Given the description of an element on the screen output the (x, y) to click on. 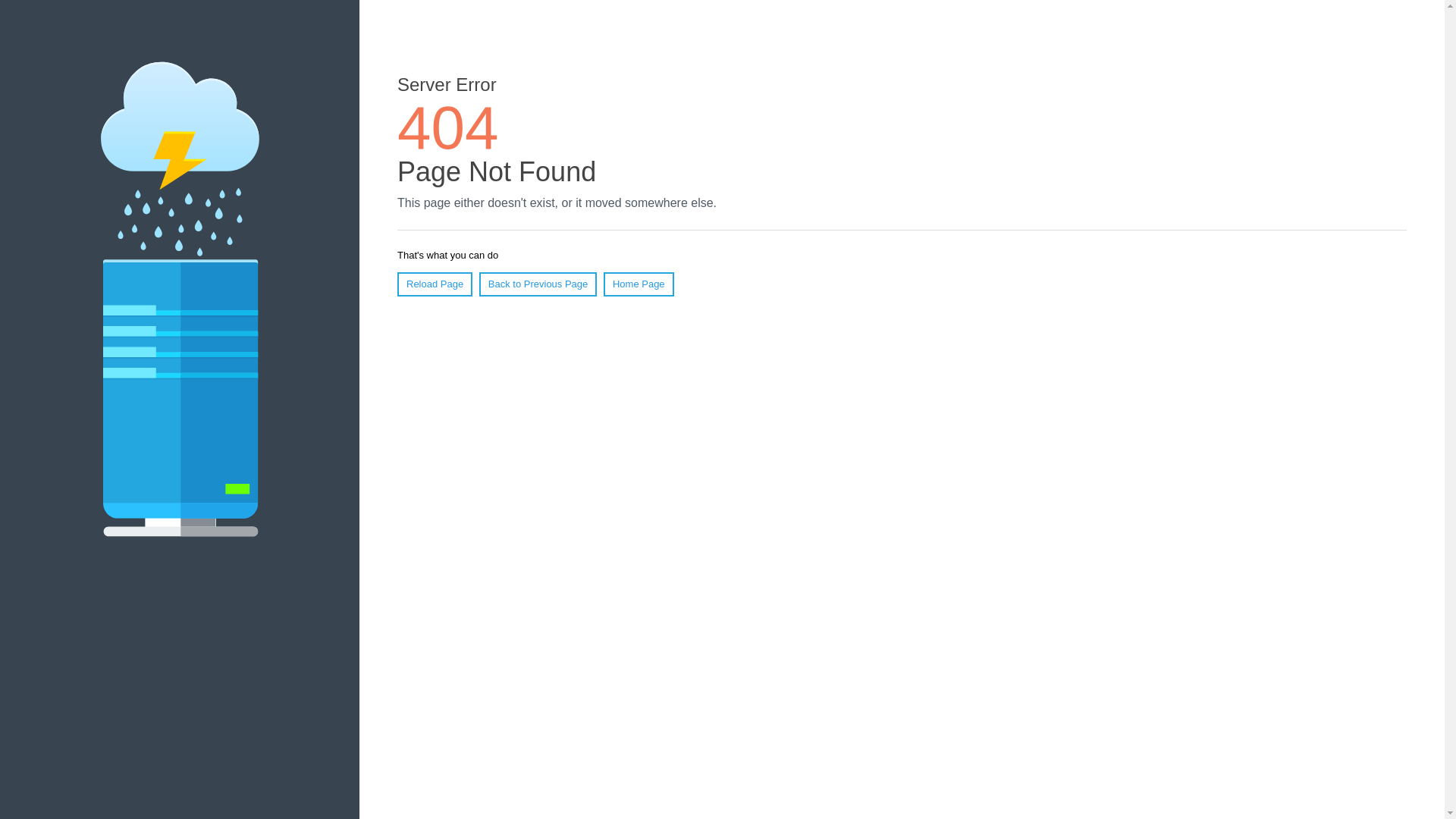
Home Page Element type: text (638, 284)
Reload Page Element type: text (434, 284)
Back to Previous Page Element type: text (538, 284)
